Given the description of an element on the screen output the (x, y) to click on. 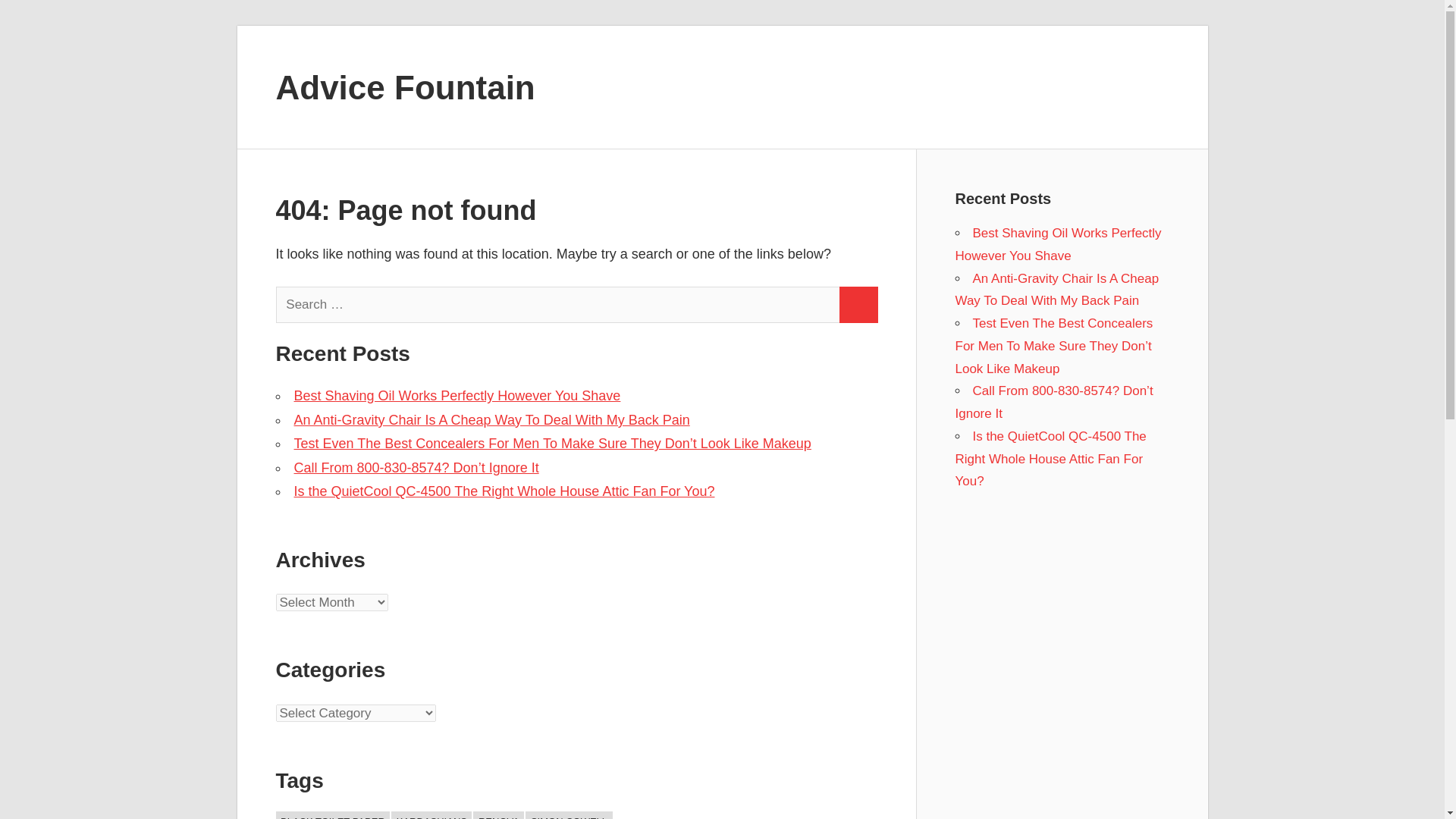
BLACK TOILET PAPER (333, 815)
Search for: (558, 304)
SIMON COWELL (568, 815)
Advice Fountain (405, 86)
Best Shaving Oil Works Perfectly However You Shave (1058, 244)
Best Shaving Oil Works Perfectly However You Shave (457, 395)
